Given the description of an element on the screen output the (x, y) to click on. 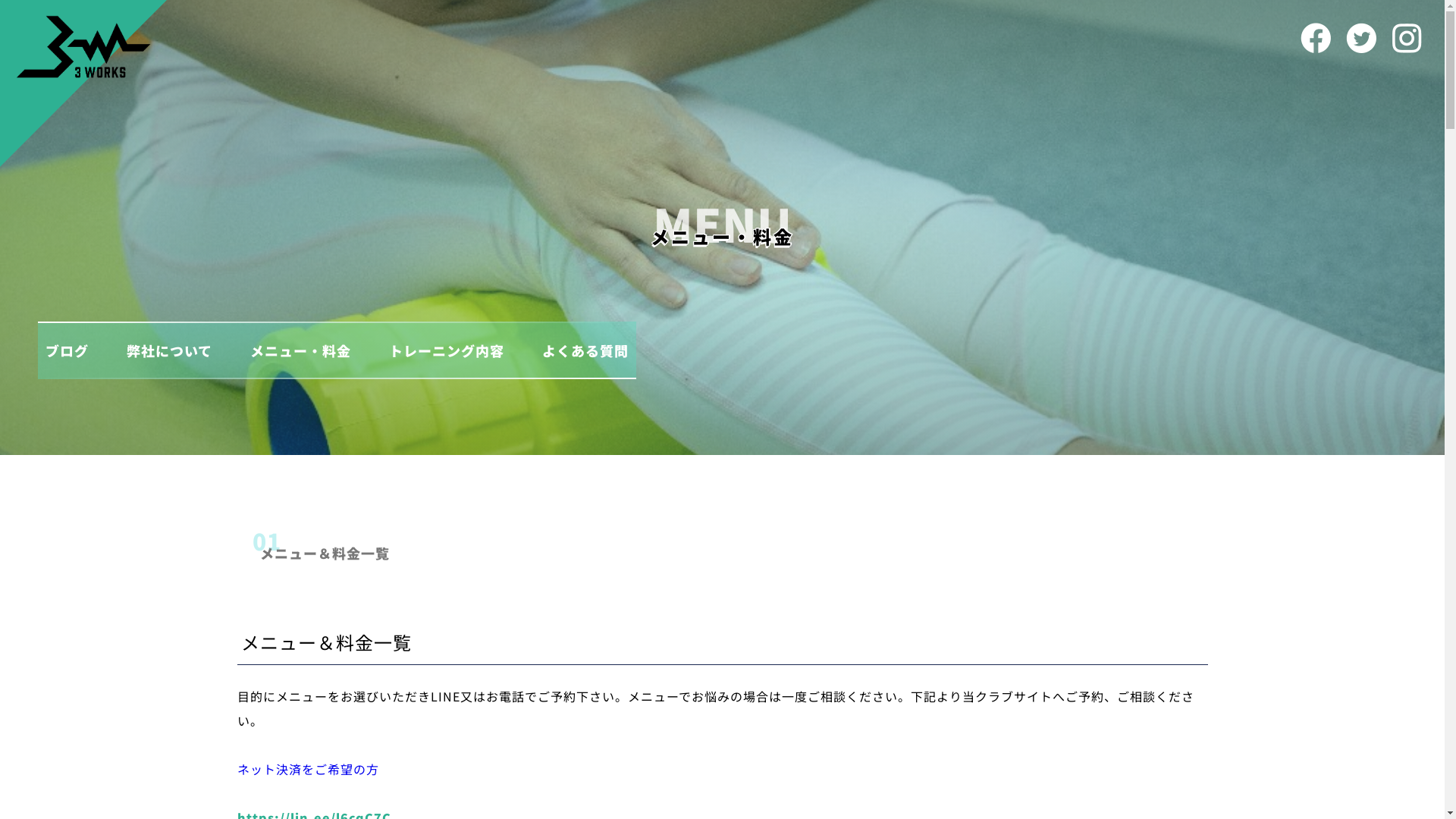
Twitter Element type: hover (1361, 37)
Instagram Element type: hover (1406, 37)
Facebook Element type: hover (1315, 37)
